Given the description of an element on the screen output the (x, y) to click on. 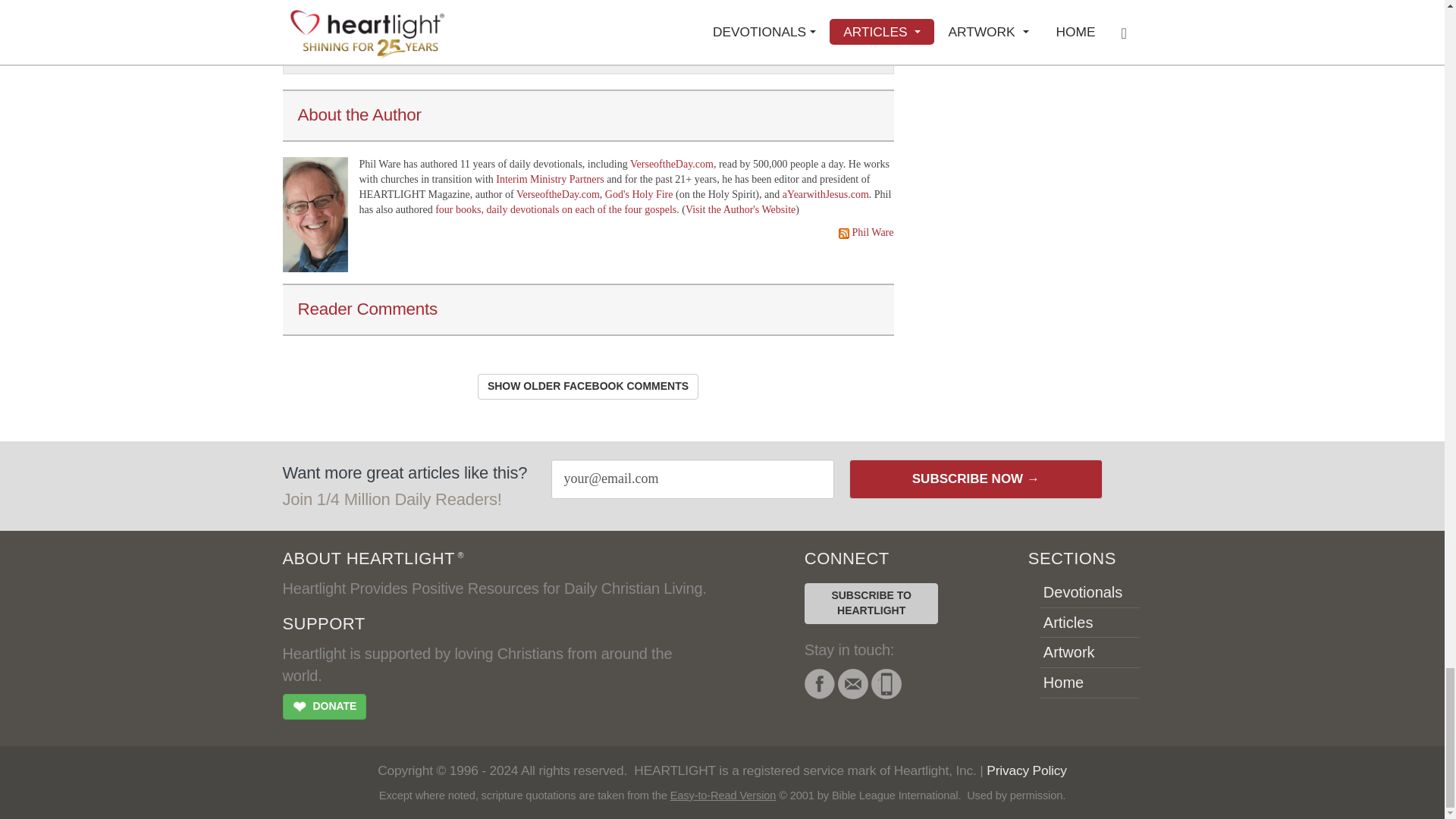
Heartlight on Facebook (819, 684)
RSS Feed of Phil Ware's Articles (872, 232)
Get the Heartlight App (885, 684)
Contact Us (852, 684)
RSS Feed of Phil Ware's Articles (843, 233)
